Given the description of an element on the screen output the (x, y) to click on. 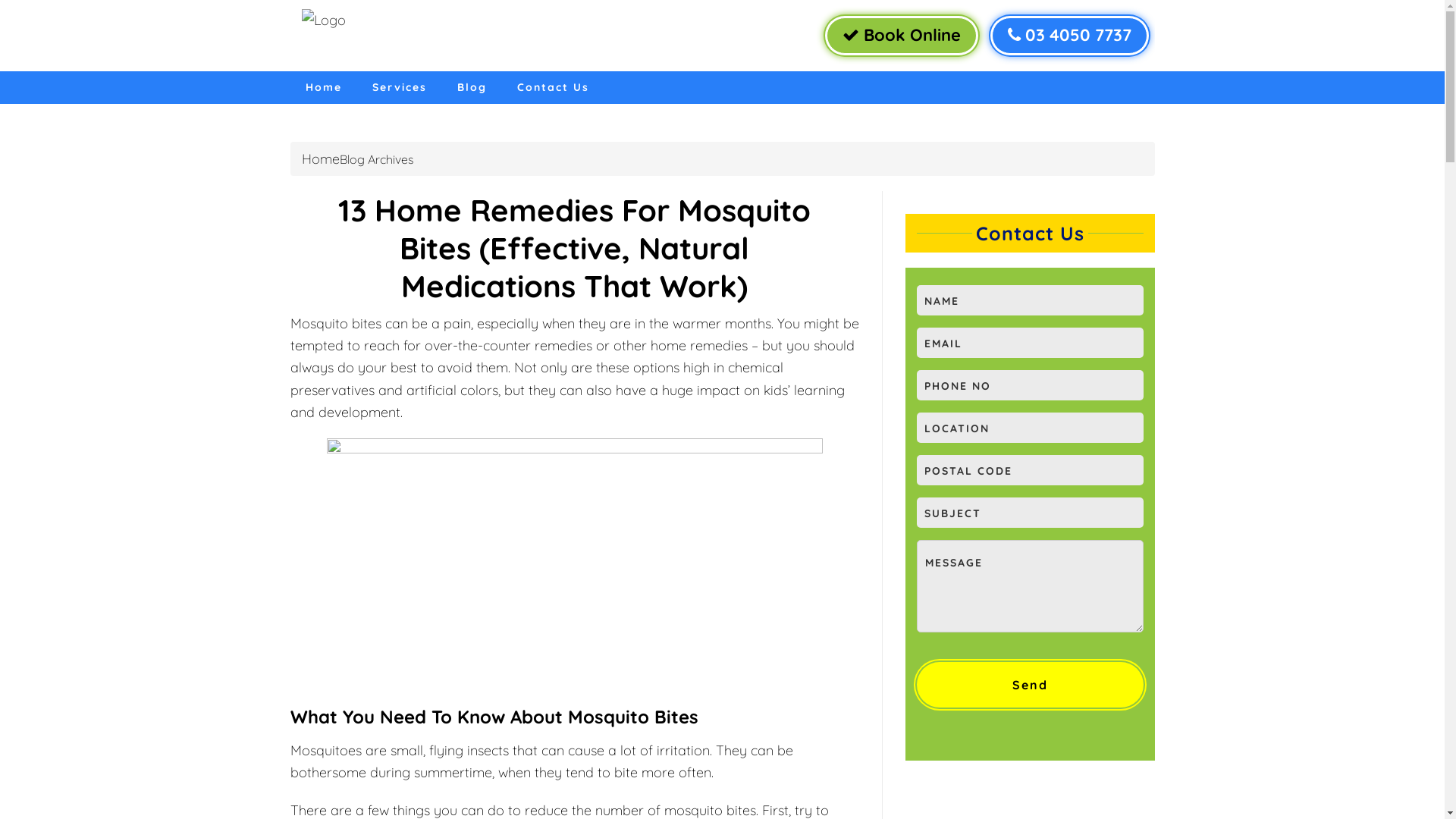
Contact Us Element type: text (553, 87)
Blog Element type: text (471, 87)
Home Element type: text (320, 158)
Book Online Element type: text (901, 35)
03 4050 7737 Element type: text (1069, 35)
Services Element type: text (398, 87)
Send Element type: text (1029, 684)
Home Element type: text (322, 87)
